Given the description of an element on the screen output the (x, y) to click on. 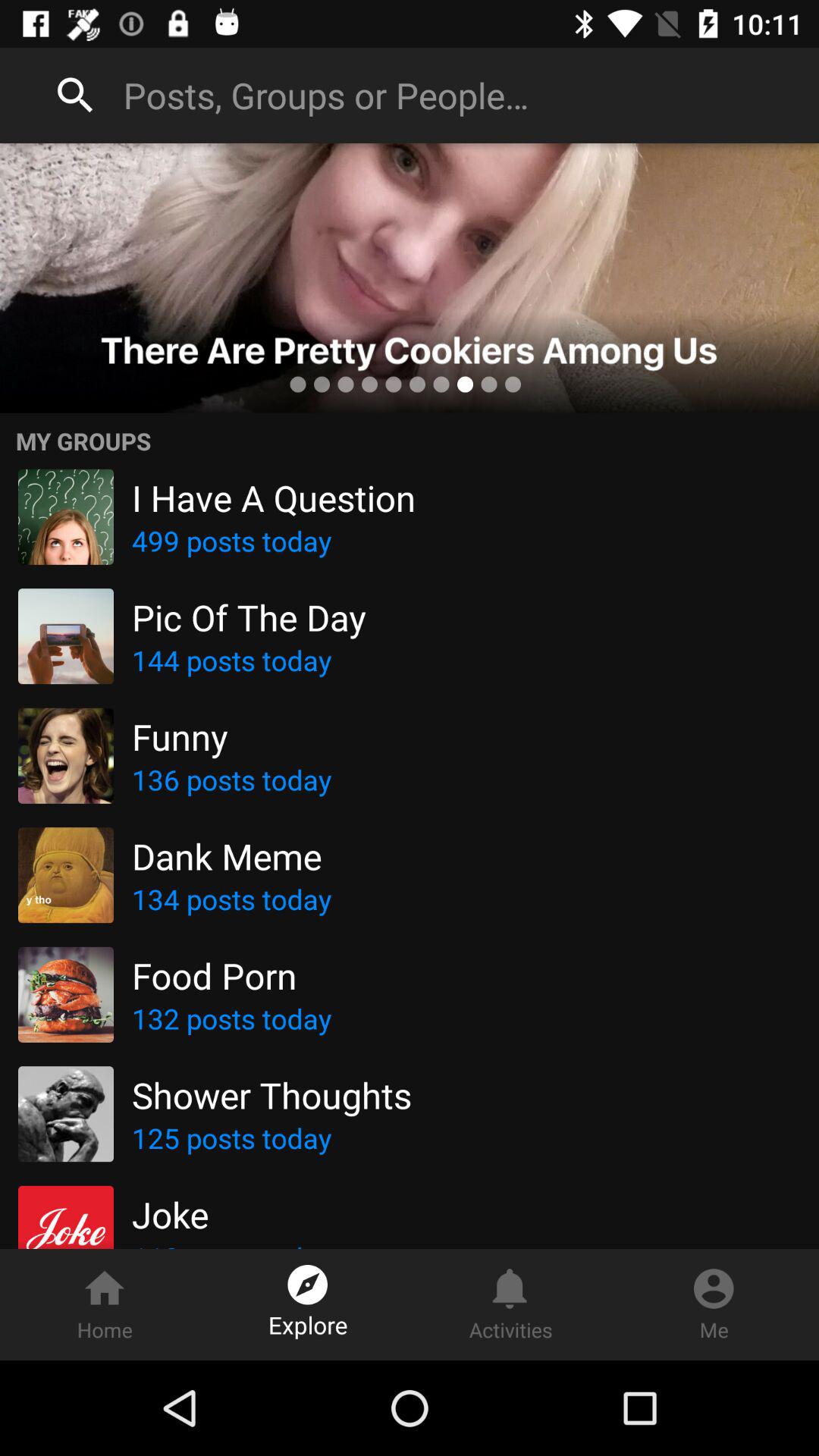
go to sixth image from bottom (65, 636)
click on image which is left of funny (65, 755)
select the picture left to shower thoughts (65, 1113)
goto search (75, 95)
